Given the description of an element on the screen output the (x, y) to click on. 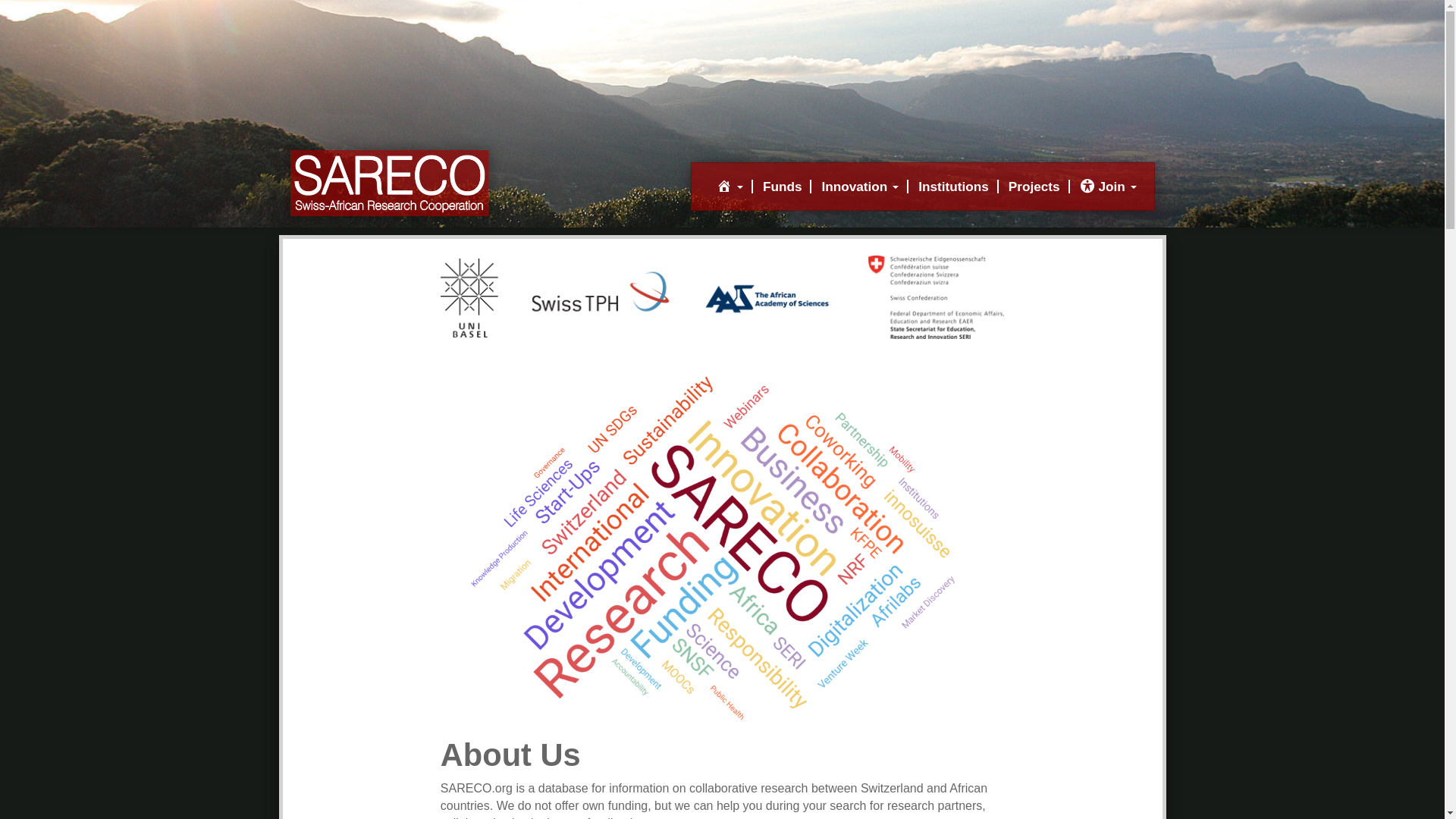
Projects (1034, 185)
Innovation (859, 185)
Institutions (953, 185)
Funds (782, 185)
Join (1108, 185)
